Given the description of an element on the screen output the (x, y) to click on. 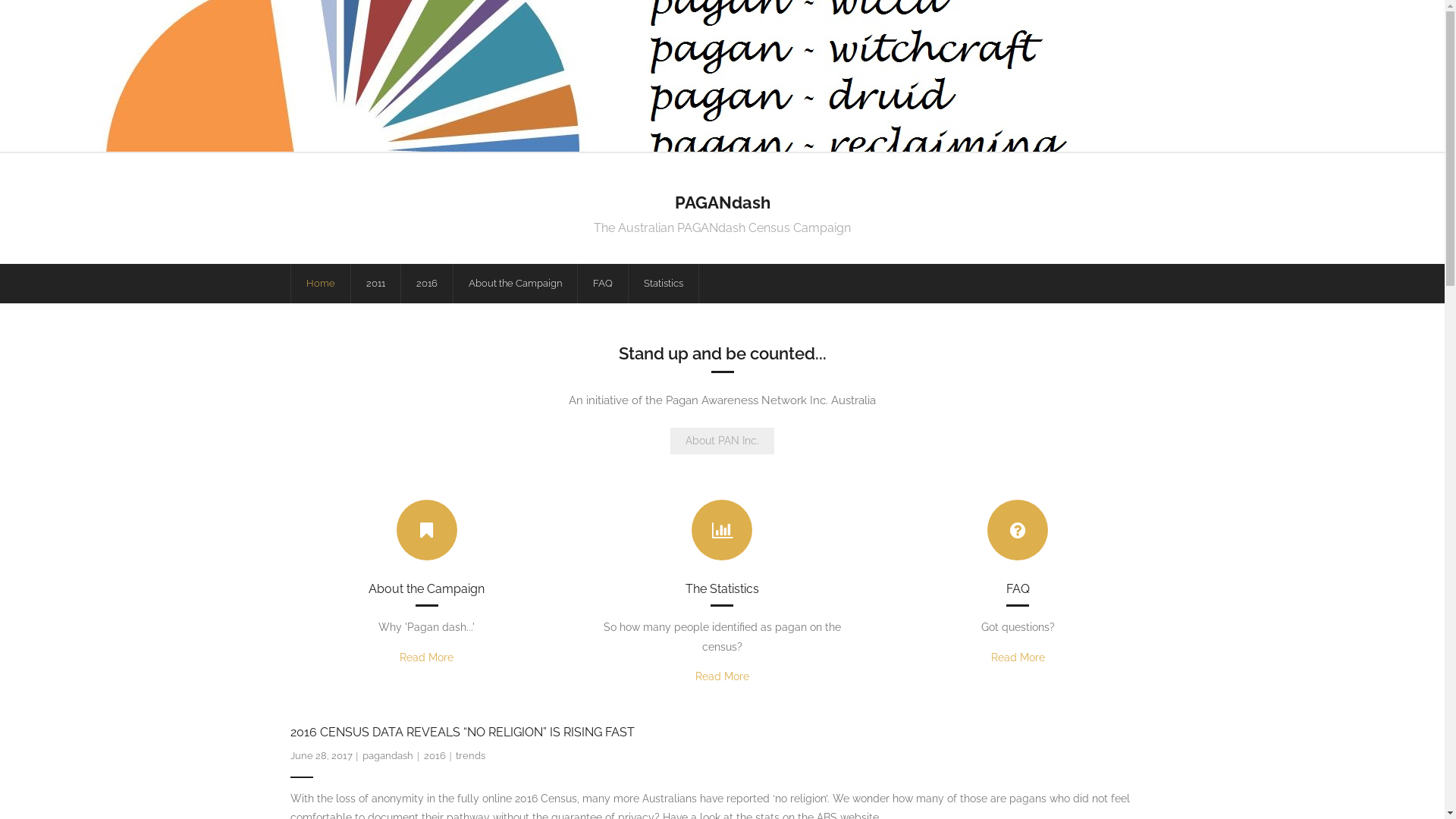
About the Campaign Element type: text (513, 282)
2016 Element type: text (426, 282)
2016 Element type: text (434, 755)
trends Element type: text (470, 755)
Read More Element type: text (426, 657)
PAGANdash
The Australian PAGANdash Census Campaign Element type: text (721, 208)
Read More Element type: text (722, 676)
June 28, 2017 Element type: text (320, 755)
2011 Element type: text (375, 282)
FAQ Element type: text (601, 282)
About PAN Inc. Element type: text (722, 440)
Statistics Element type: text (663, 282)
pagandash Element type: text (387, 755)
Home Element type: text (319, 282)
Read More Element type: text (1017, 657)
